Given the description of an element on the screen output the (x, y) to click on. 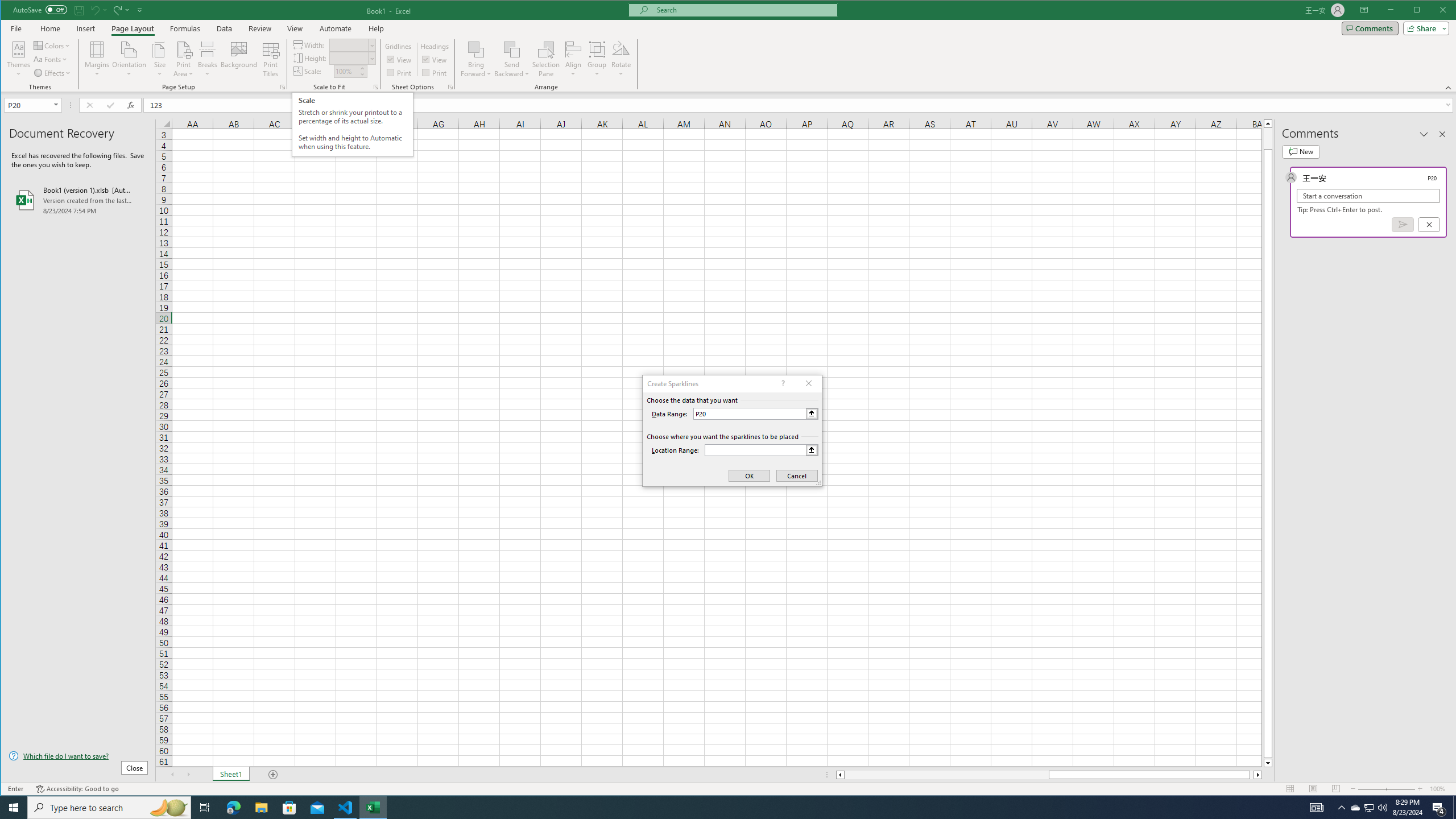
Print (434, 72)
Scale (345, 71)
Add Sheet (272, 774)
Print Titles (270, 59)
Bring Forward (476, 48)
Zoom Out (1372, 788)
Data (224, 28)
Help (376, 28)
Margins (96, 59)
Maximize (1432, 11)
Sheet Options (449, 86)
Book1 (version 1).xlsb  [AutoRecovered] (78, 199)
Size (159, 59)
